Given the description of an element on the screen output the (x, y) to click on. 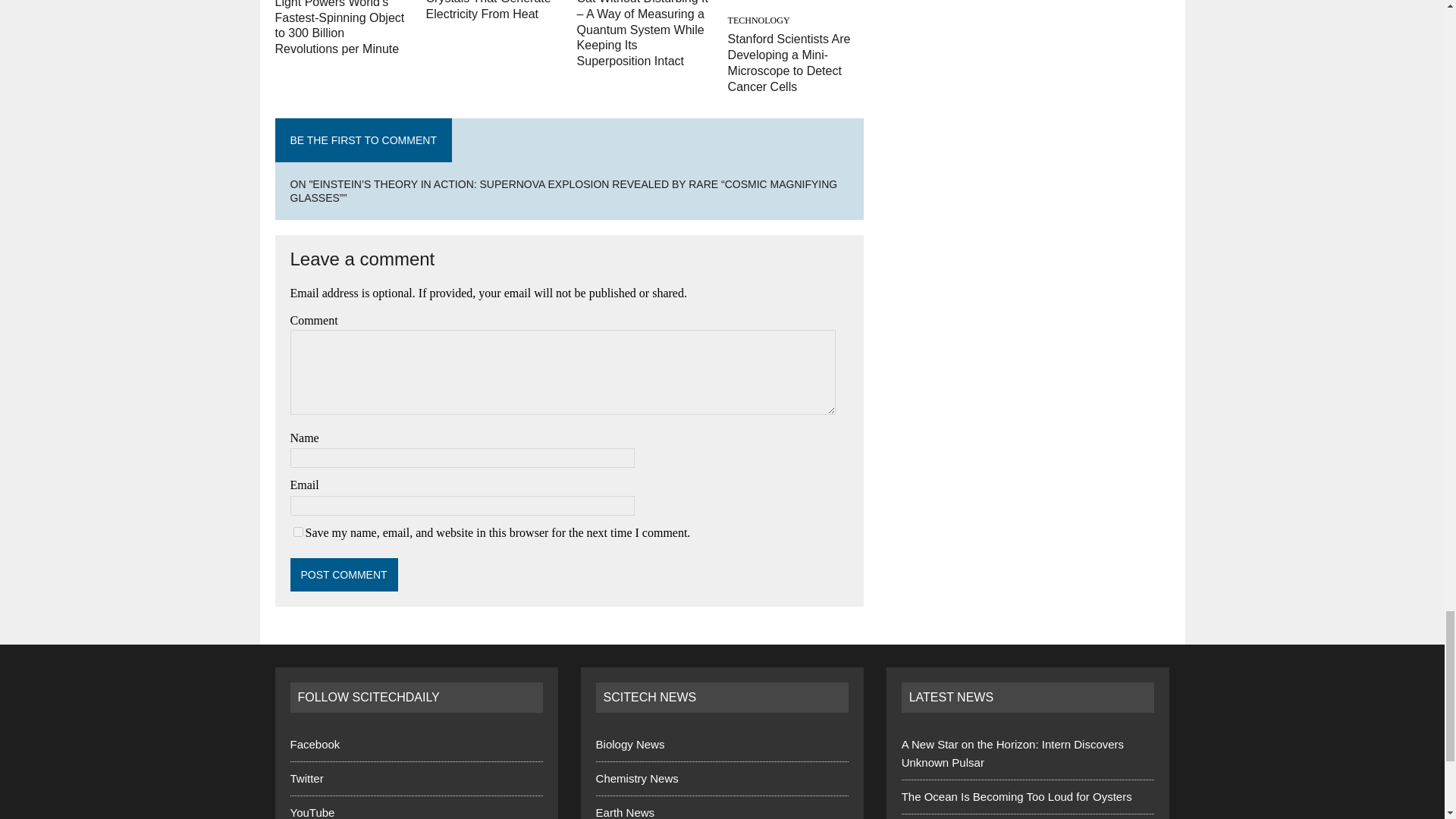
Post Comment (343, 574)
yes (297, 532)
